Given the description of an element on the screen output the (x, y) to click on. 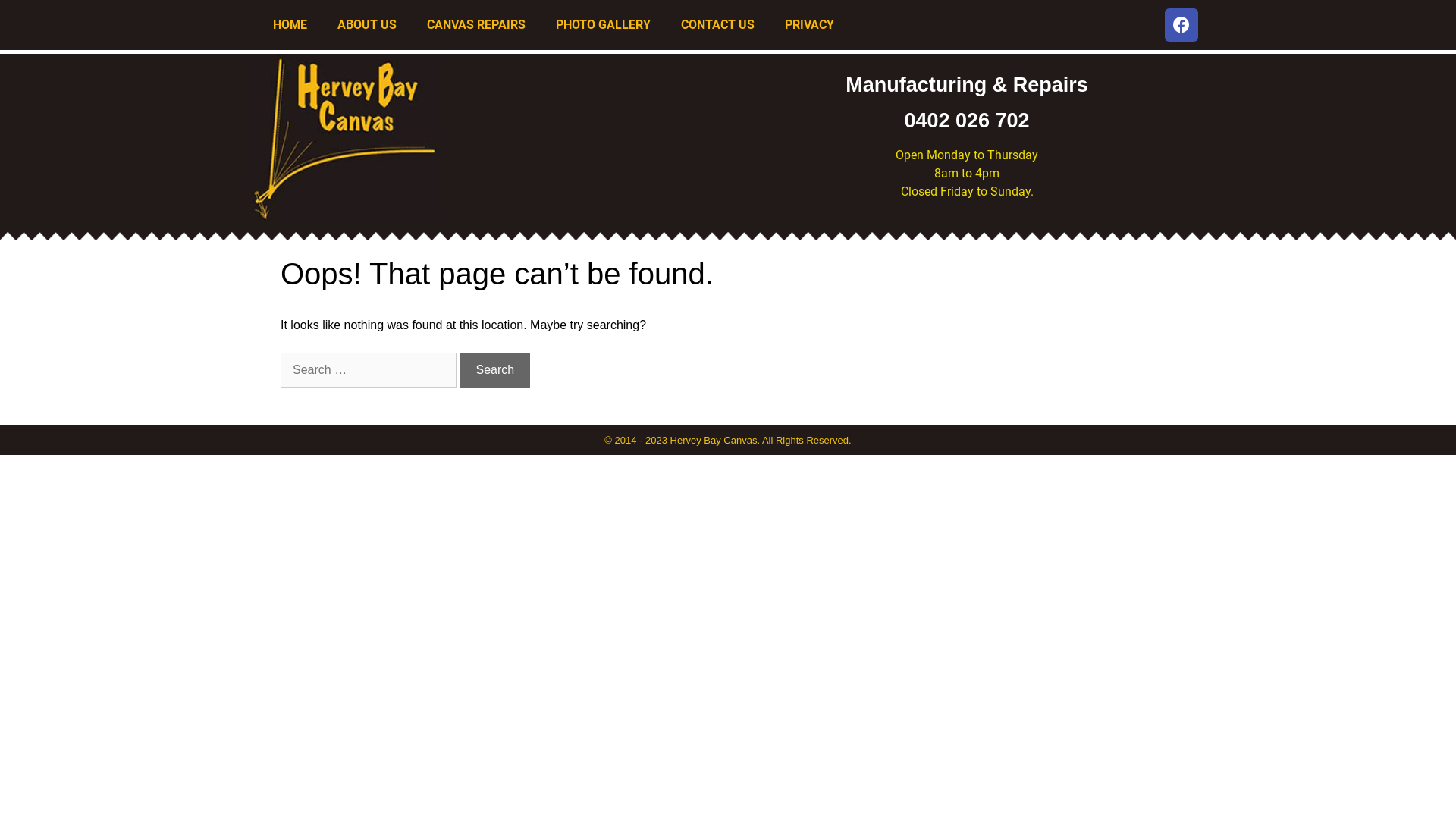
HOME Element type: text (289, 24)
Search for: Element type: hover (368, 369)
PRIVACY Element type: text (809, 24)
Search Element type: text (494, 369)
CANVAS REPAIRS Element type: text (475, 24)
CONTACT US Element type: text (717, 24)
ABOUT US Element type: text (366, 24)
PHOTO GALLERY Element type: text (602, 24)
